Given the description of an element on the screen output the (x, y) to click on. 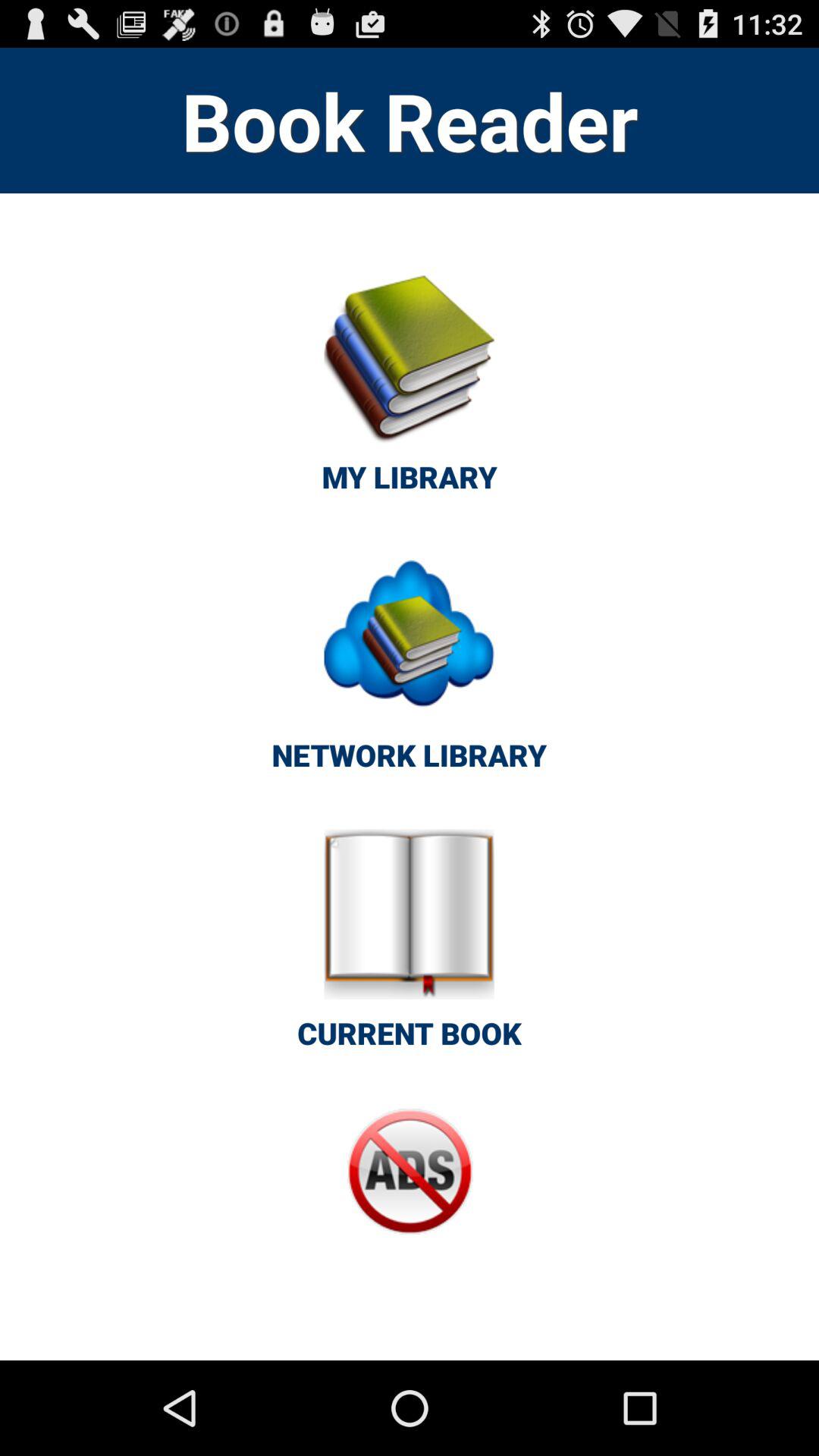
flip to my library button (409, 392)
